Given the description of an element on the screen output the (x, y) to click on. 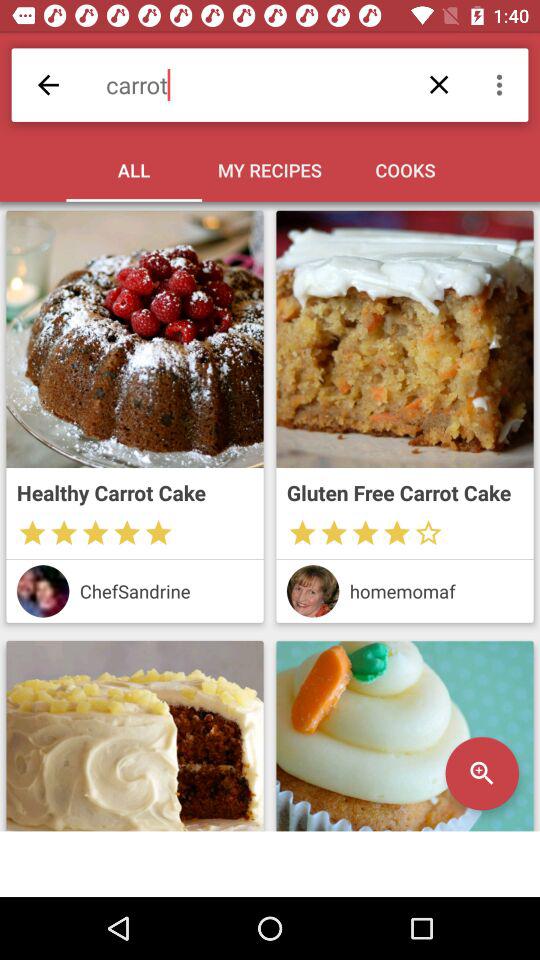
choose the item below the homemomaf (482, 773)
